Given the description of an element on the screen output the (x, y) to click on. 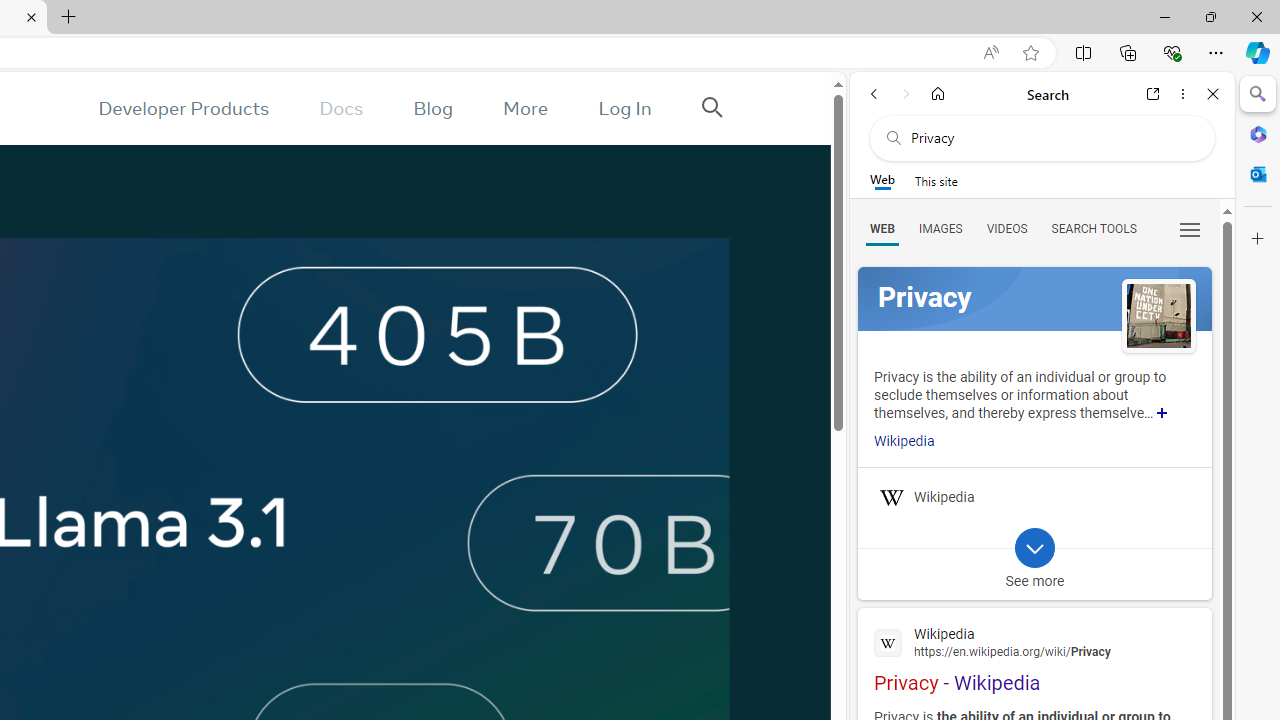
Developer Products (183, 108)
See more images of Privacy (1158, 317)
Forward (906, 93)
Search Filter, VIDEOS (1006, 228)
Web scope (882, 180)
